Given the description of an element on the screen output the (x, y) to click on. 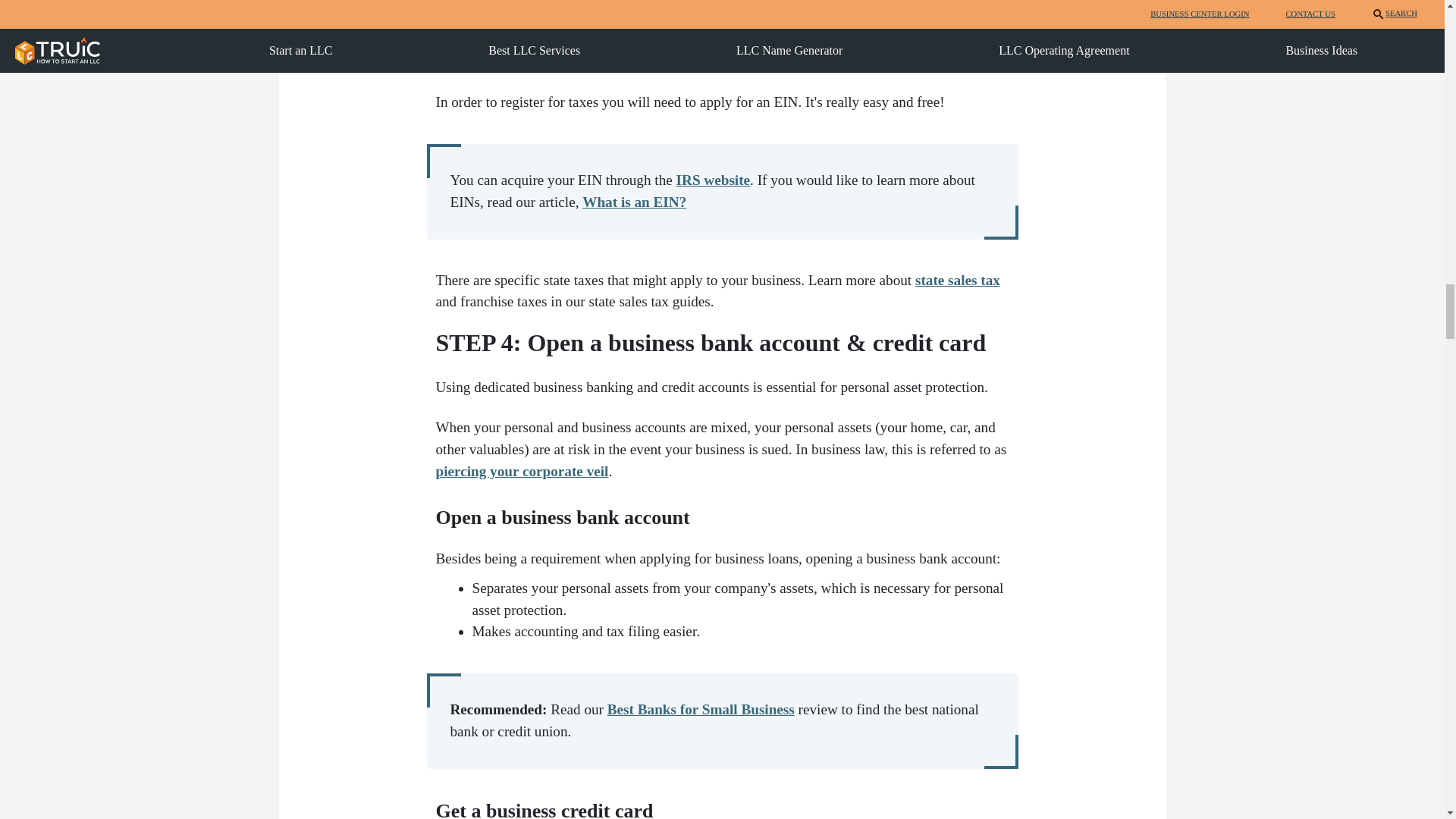
Get an EIN from the IRS website (714, 179)
